Given the description of an element on the screen output the (x, y) to click on. 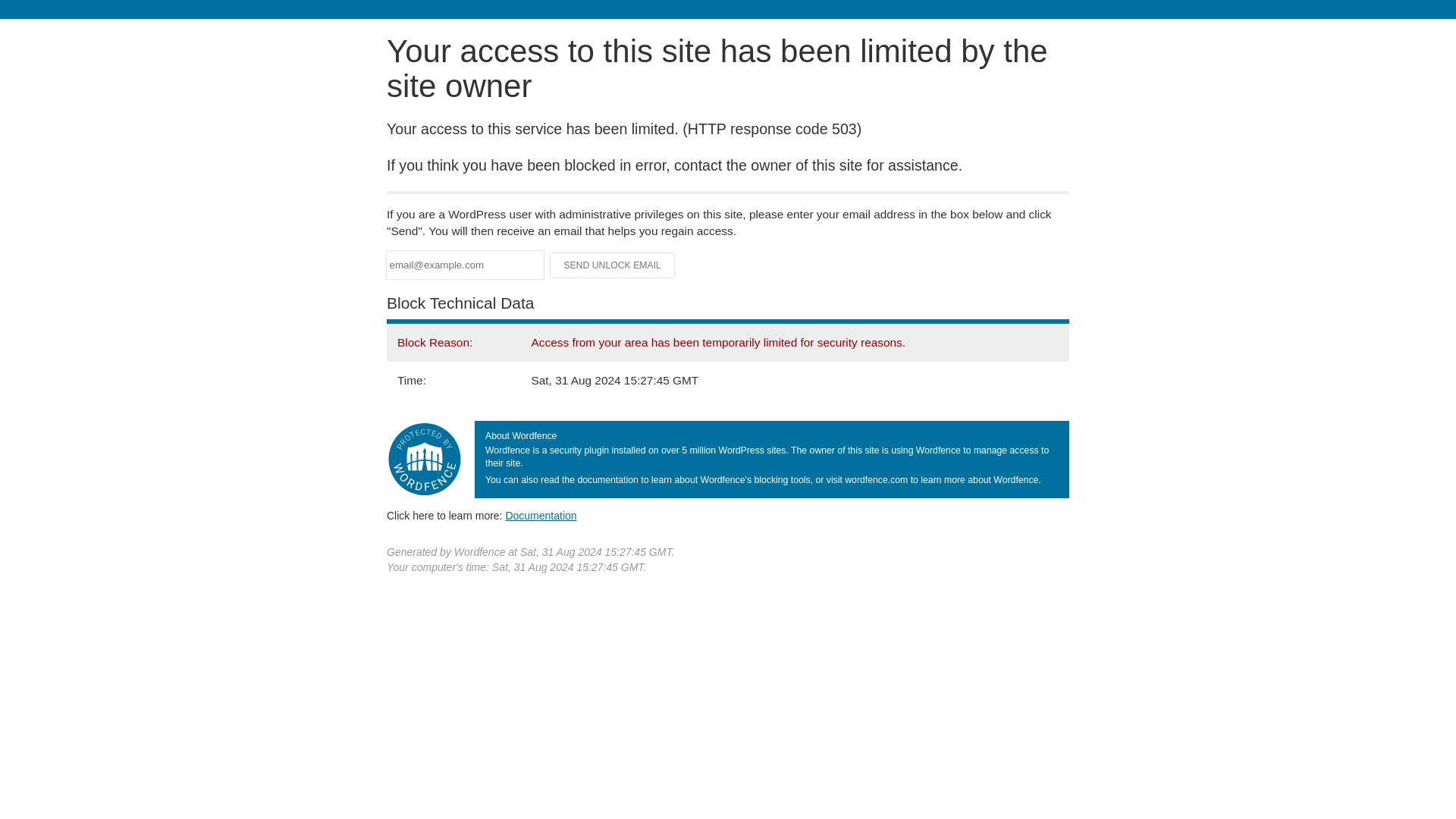
Documentation (540, 515)
Send Unlock Email (612, 265)
Send Unlock Email (612, 265)
